Given the description of an element on the screen output the (x, y) to click on. 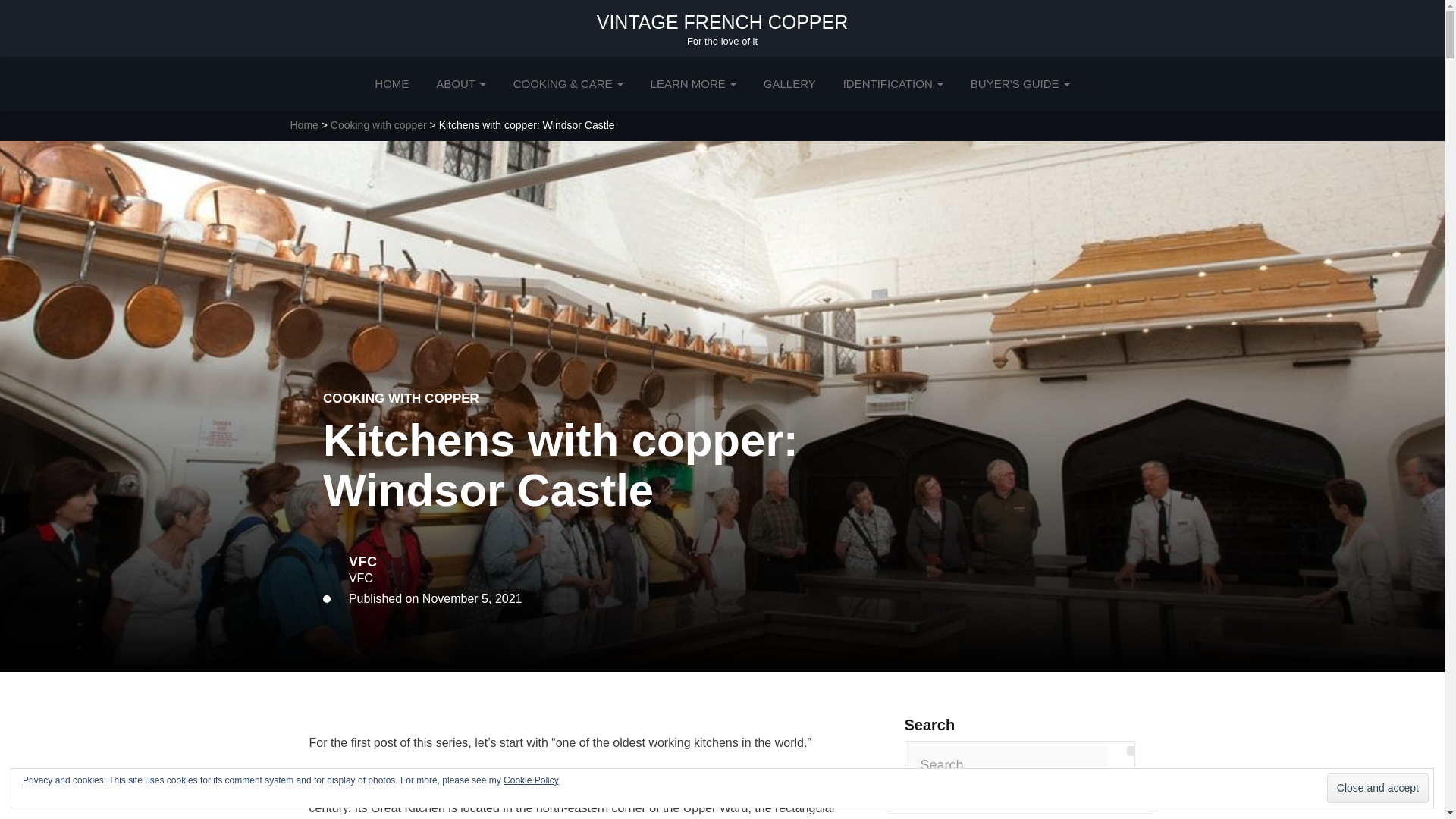
GALLERY (788, 83)
Search (1131, 750)
LEARN MORE (693, 83)
IDENTIFICATION (893, 83)
Gallery (788, 83)
Learn more (693, 83)
VINTAGE FRENCH COPPER (722, 21)
ABOUT (460, 83)
About (460, 83)
Search (1131, 750)
